Given the description of an element on the screen output the (x, y) to click on. 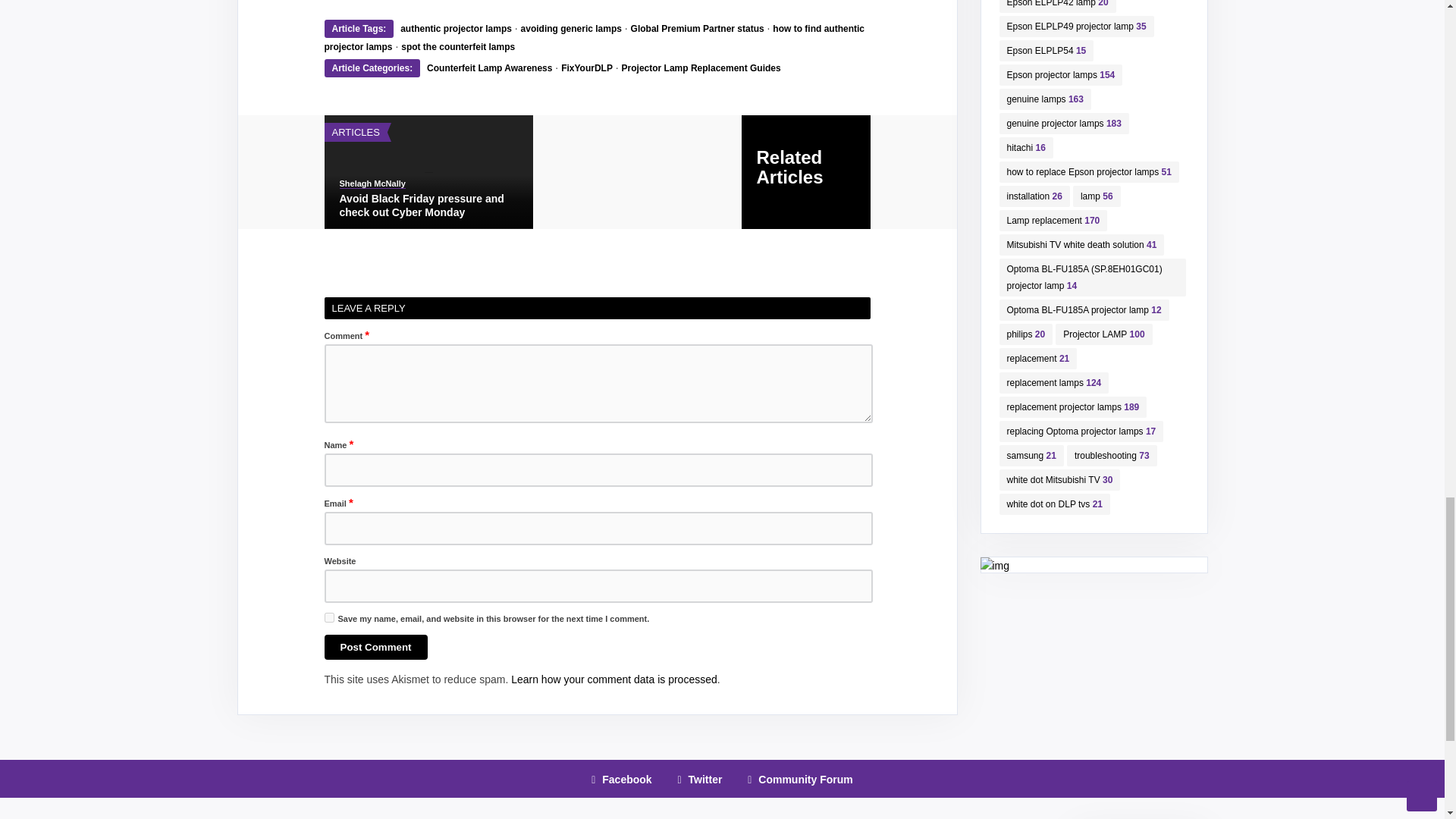
spot the counterfeit lamps (458, 46)
Counterfeit Lamp Awareness (488, 68)
FixYourDLP (586, 68)
Shelagh McNally (372, 184)
yes (329, 617)
Global Premium Partner status (697, 28)
Post Comment (376, 647)
View all posts in Articles (355, 132)
Posts by Shelagh McNally (372, 184)
how to find authentic projector lamps (594, 37)
